Given the description of an element on the screen output the (x, y) to click on. 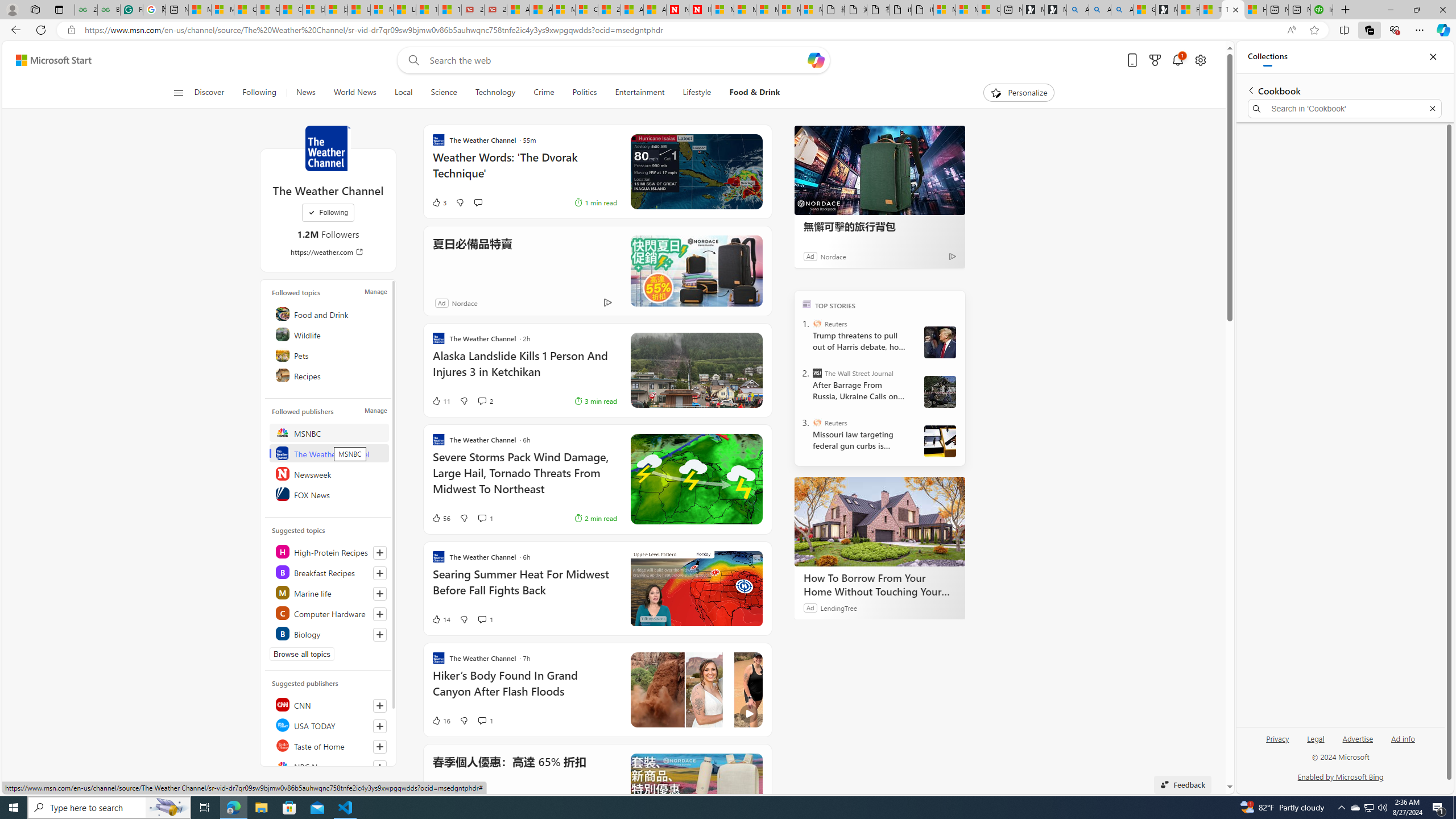
Exit search (1432, 108)
Browse all topics (301, 653)
https://weather.com (327, 251)
NBC News (328, 765)
